Given the description of an element on the screen output the (x, y) to click on. 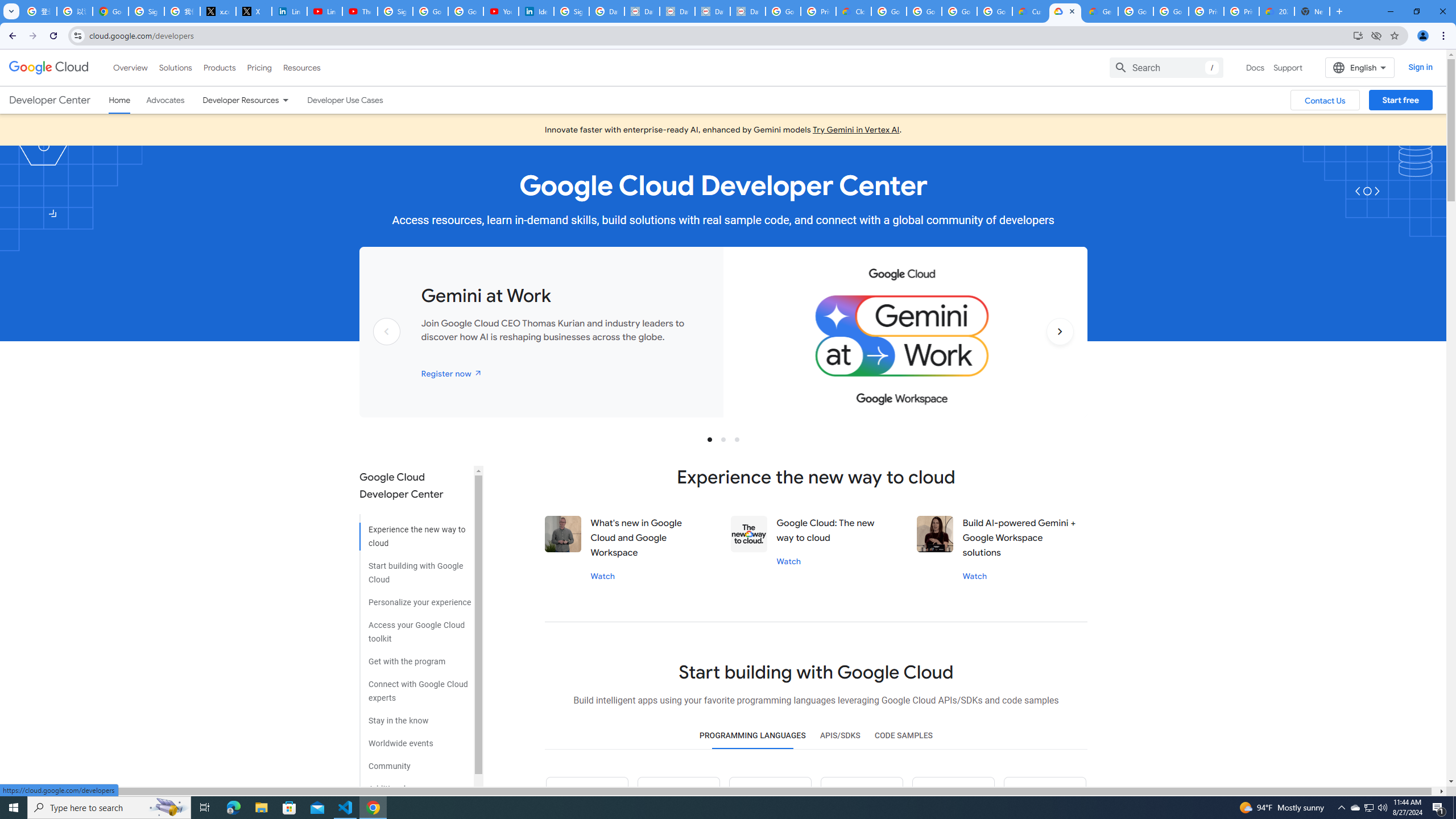
Next slide (1059, 349)
Slide 1 (709, 438)
Slide 3 (736, 438)
Sign in - Google Accounts (394, 11)
New Tab (1312, 11)
PROGRAMMING LANGUAGES (752, 735)
Developer Center (49, 100)
LinkedIn Privacy Policy (288, 11)
APIS/SDKS (839, 735)
Google Workspace - Specific Terms (994, 11)
Sign in - Google Accounts (145, 11)
Access your Google Cloud toolkit (415, 627)
Java icon (678, 798)
